Given the description of an element on the screen output the (x, y) to click on. 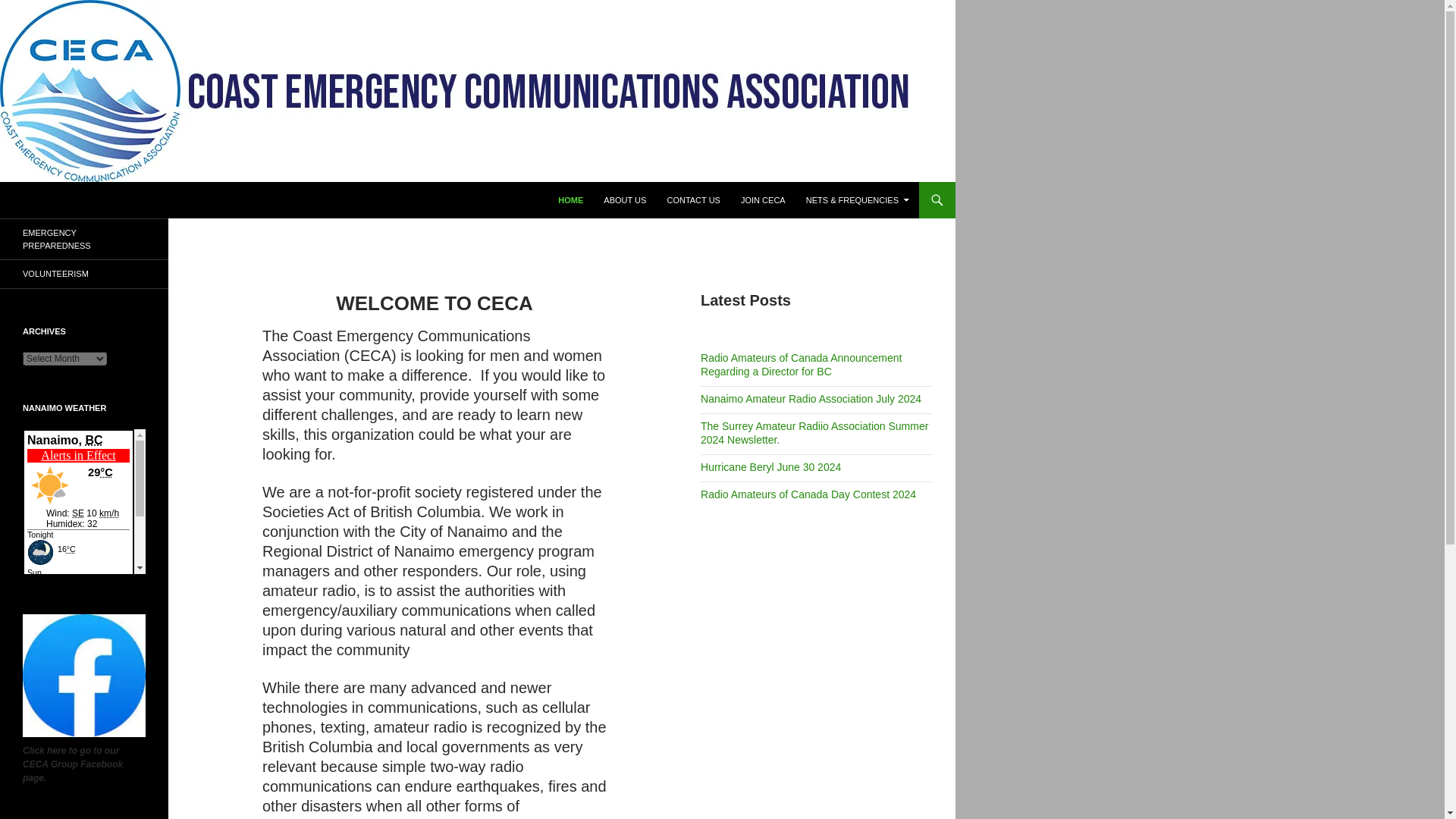
Nanaimo Amateur Radio Association July 2024 (810, 398)
ABOUT US (624, 199)
HOME (570, 199)
Coast Emergency Communications Association (281, 230)
JOIN CECA (763, 199)
VOLUNTEERISM (84, 274)
EMERGENCY PREPAREDNESS (84, 239)
Radio Amateurs of Canada Day Contest 2024 (807, 494)
Hurricane Beryl June 30 2024 (770, 467)
CONTACT US (693, 199)
